Given the description of an element on the screen output the (x, y) to click on. 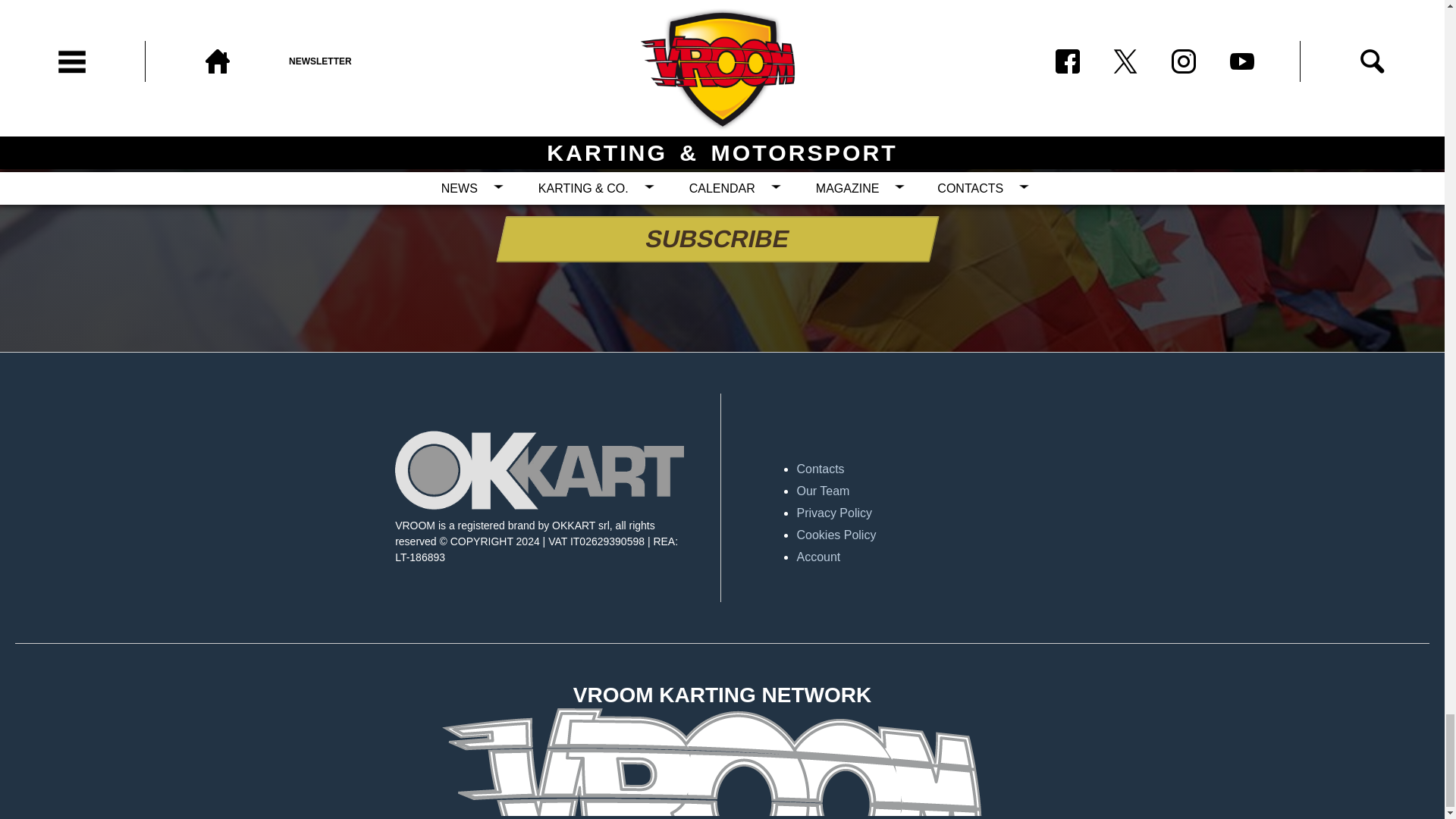
Subscribe (713, 239)
2 (622, 186)
Contacts (940, 469)
Our Team (940, 491)
